Given the description of an element on the screen output the (x, y) to click on. 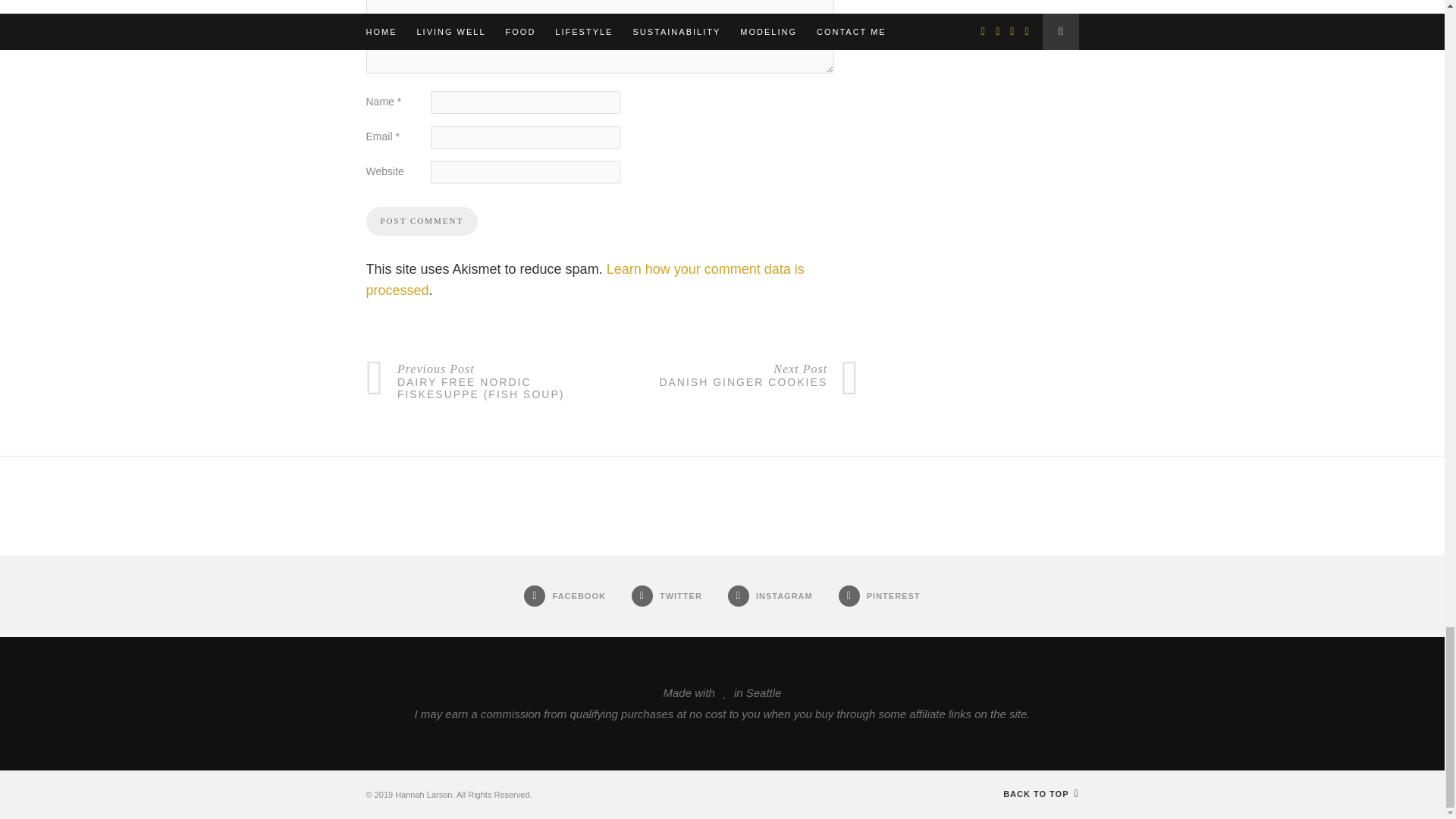
Post Comment (421, 221)
